Given the description of an element on the screen output the (x, y) to click on. 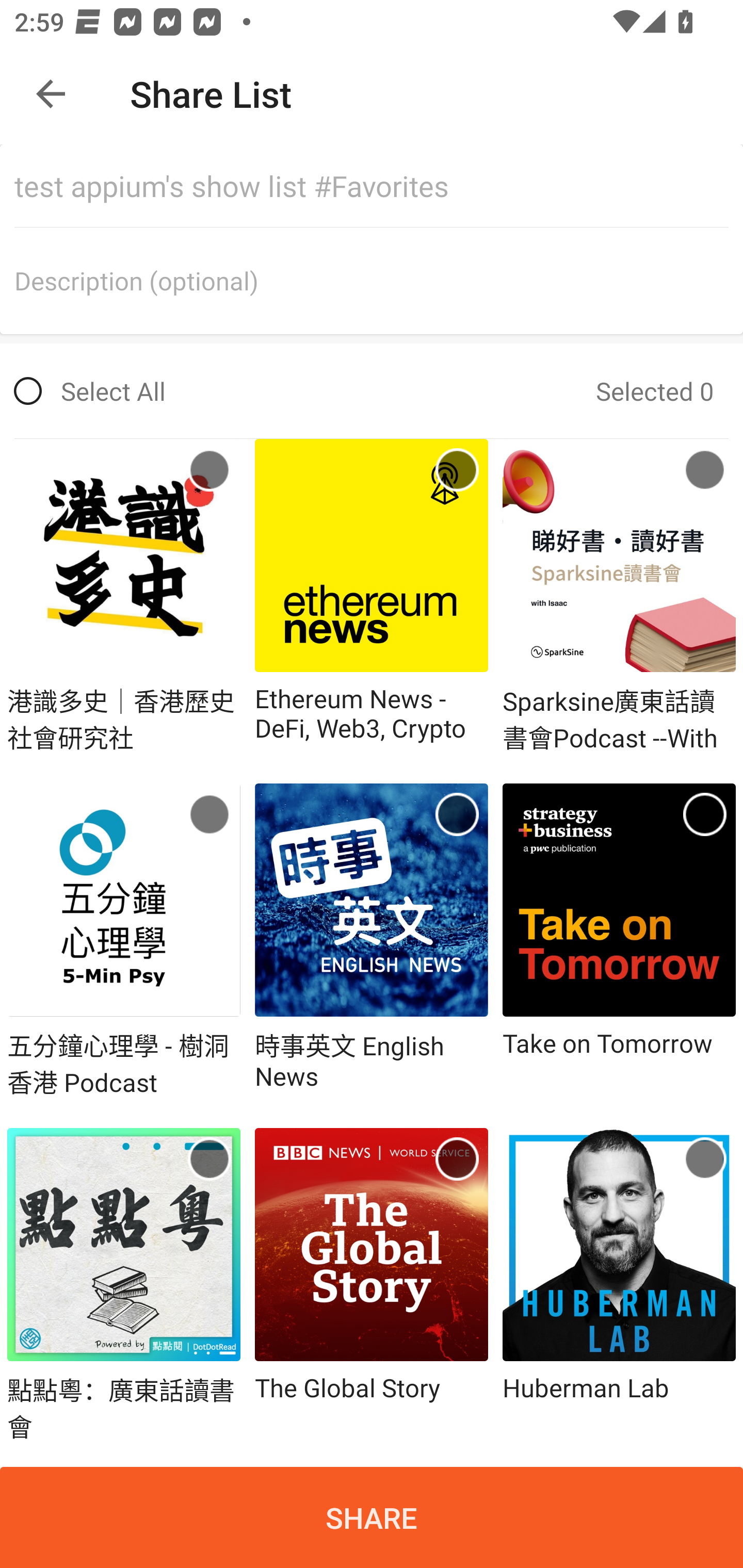
Navigate up (50, 93)
test appium's show list #Favorites (378, 185)
Description (optional) (378, 280)
Select All (89, 391)
港識多史｜香港歷史社會研究社 (123, 596)
Ethereum News - DeFi, Web3, Crypto (371, 596)
Sparksine廣東話讀書會Podcast --With Isaac (618, 596)
五分鐘心理學 - 樹洞香港 Podcast (123, 941)
時事英文 English News (371, 941)
Take on Tomorrow (618, 941)
點點粵：廣東話讀書會 (123, 1285)
The Global Story (371, 1285)
Huberman Lab (618, 1285)
SHARE (371, 1517)
